Given the description of an element on the screen output the (x, y) to click on. 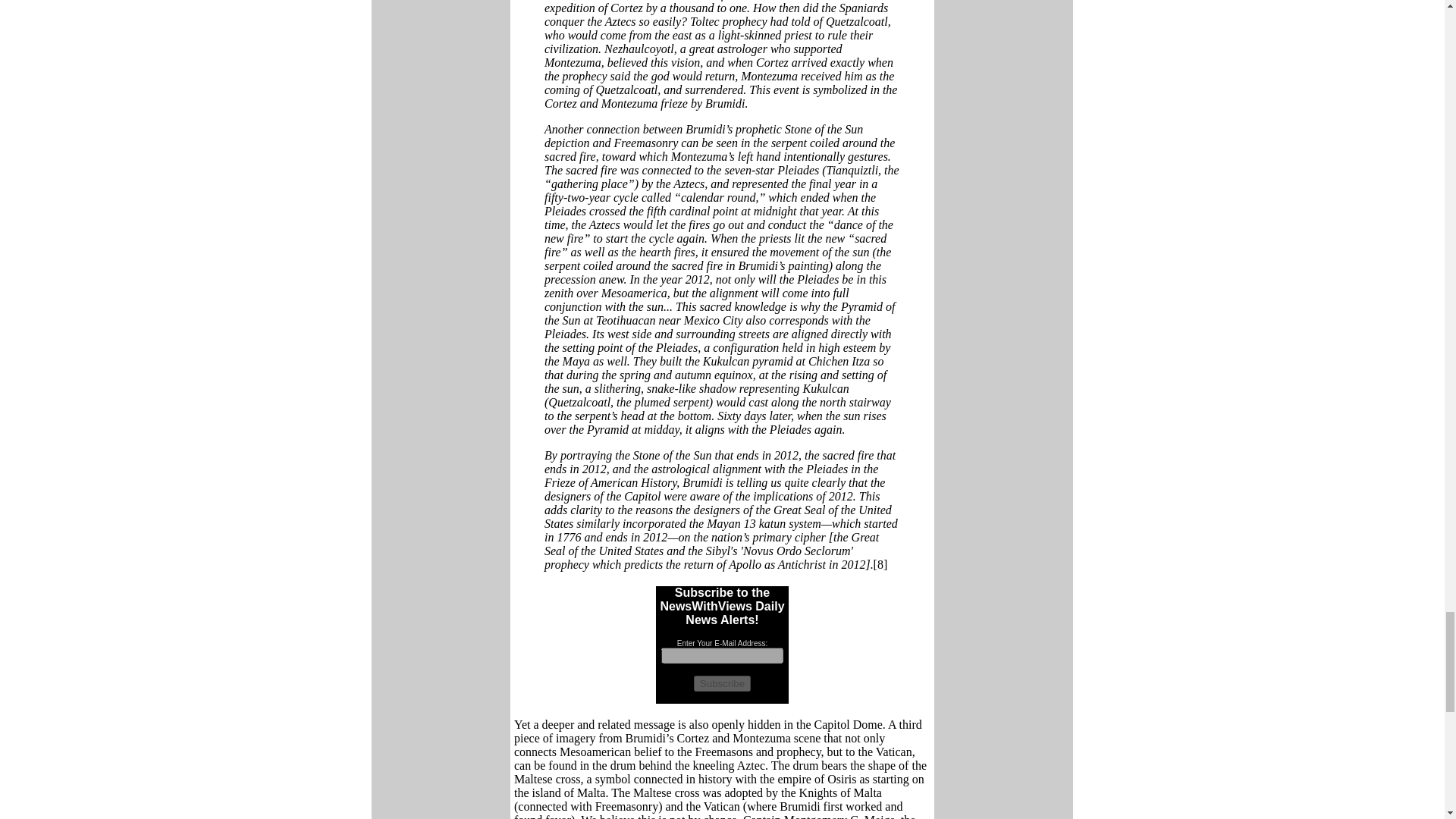
Subscribe (722, 683)
